Given the description of an element on the screen output the (x, y) to click on. 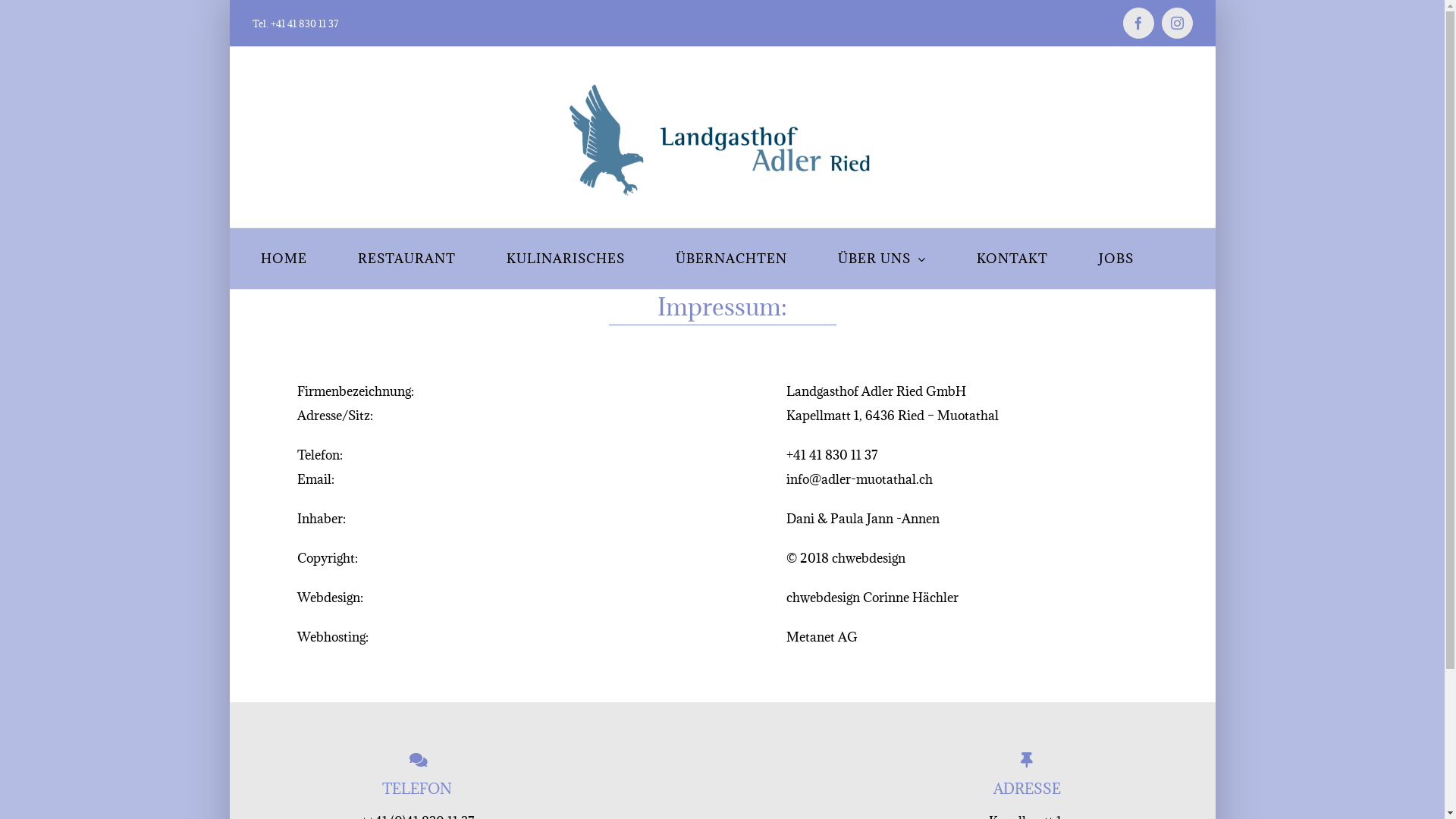
HOME Element type: text (283, 258)
Instagram Element type: text (1176, 22)
KONTAKT Element type: text (1012, 258)
Facebook Element type: text (1137, 22)
JOBS Element type: text (1115, 258)
info@adler-muotathal.ch Element type: text (859, 478)
RESTAURANT Element type: text (406, 258)
KULINARISCHES Element type: text (565, 258)
